Given the description of an element on the screen output the (x, y) to click on. 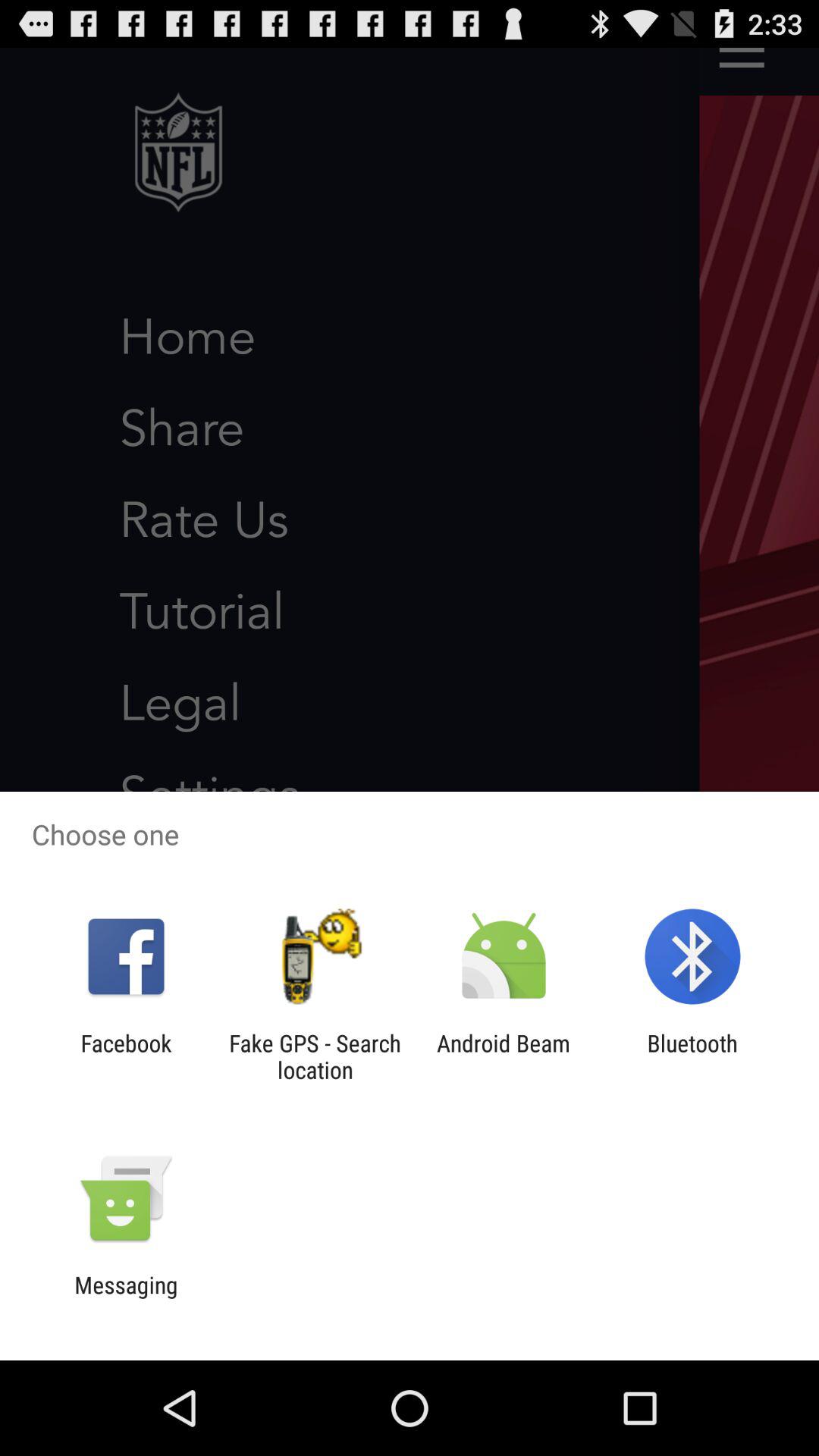
scroll to bluetooth icon (692, 1056)
